Given the description of an element on the screen output the (x, y) to click on. 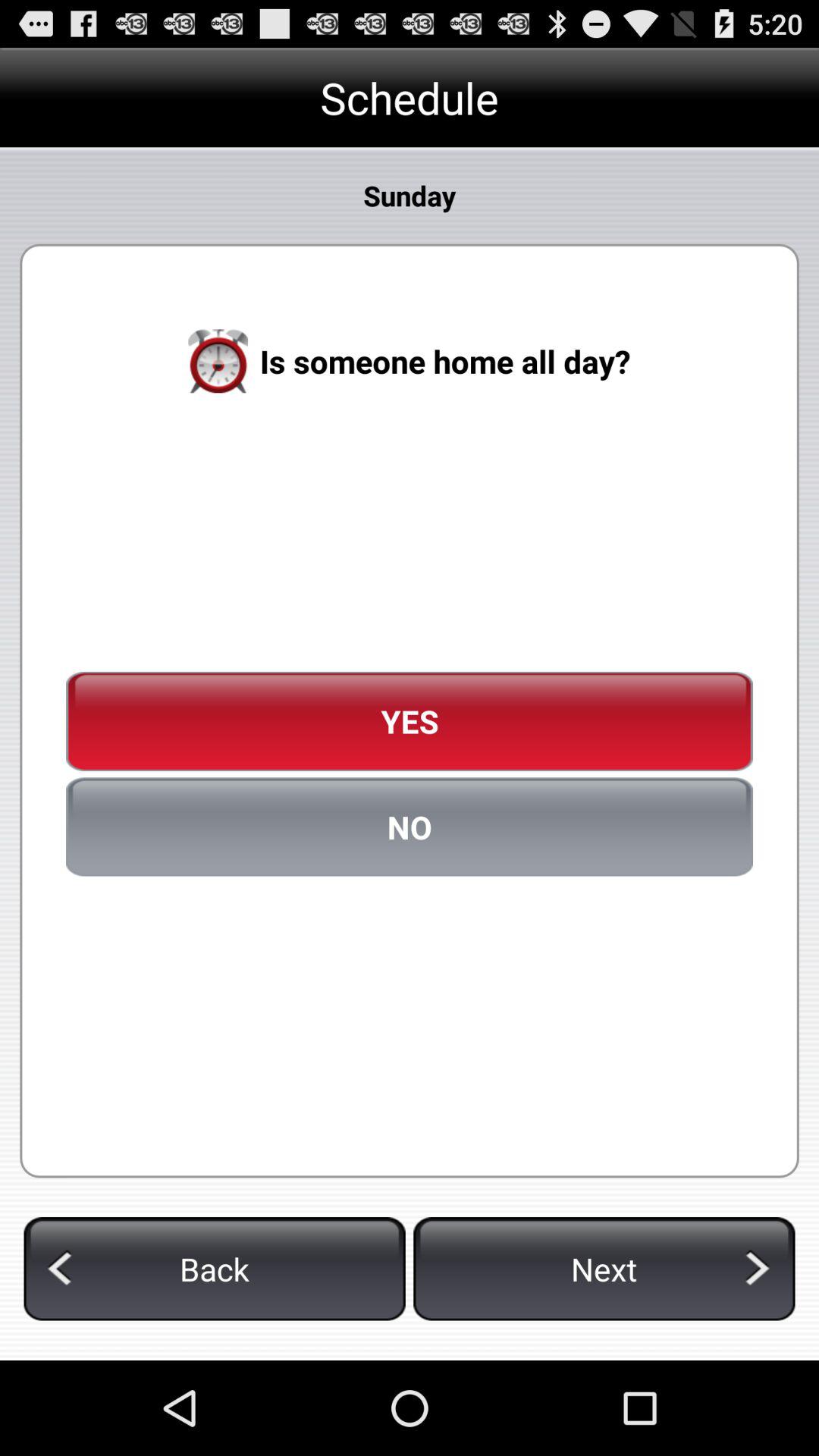
tap the item at the bottom right corner (604, 1268)
